Given the description of an element on the screen output the (x, y) to click on. 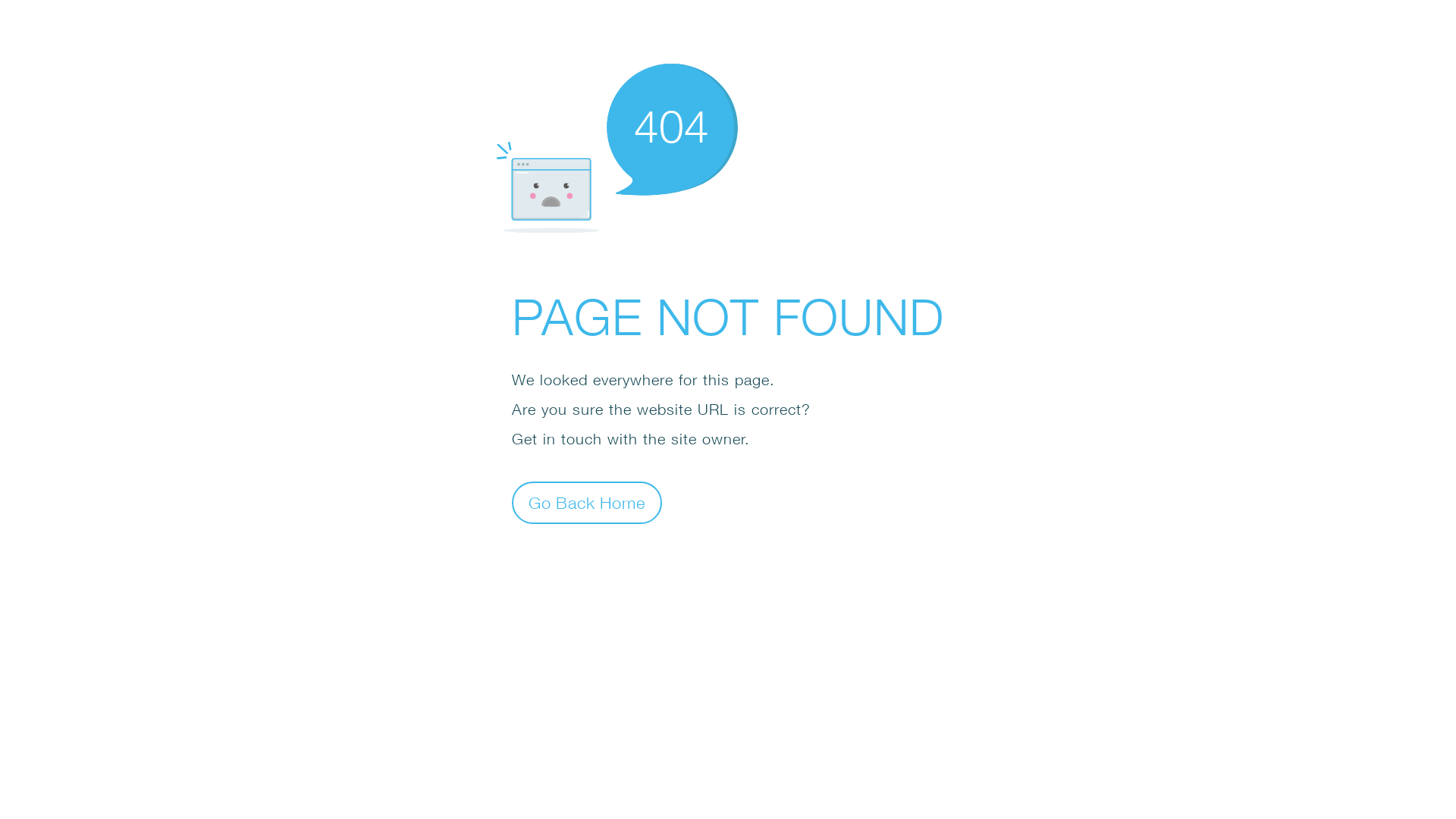
Go Back Home Element type: text (586, 502)
